Given the description of an element on the screen output the (x, y) to click on. 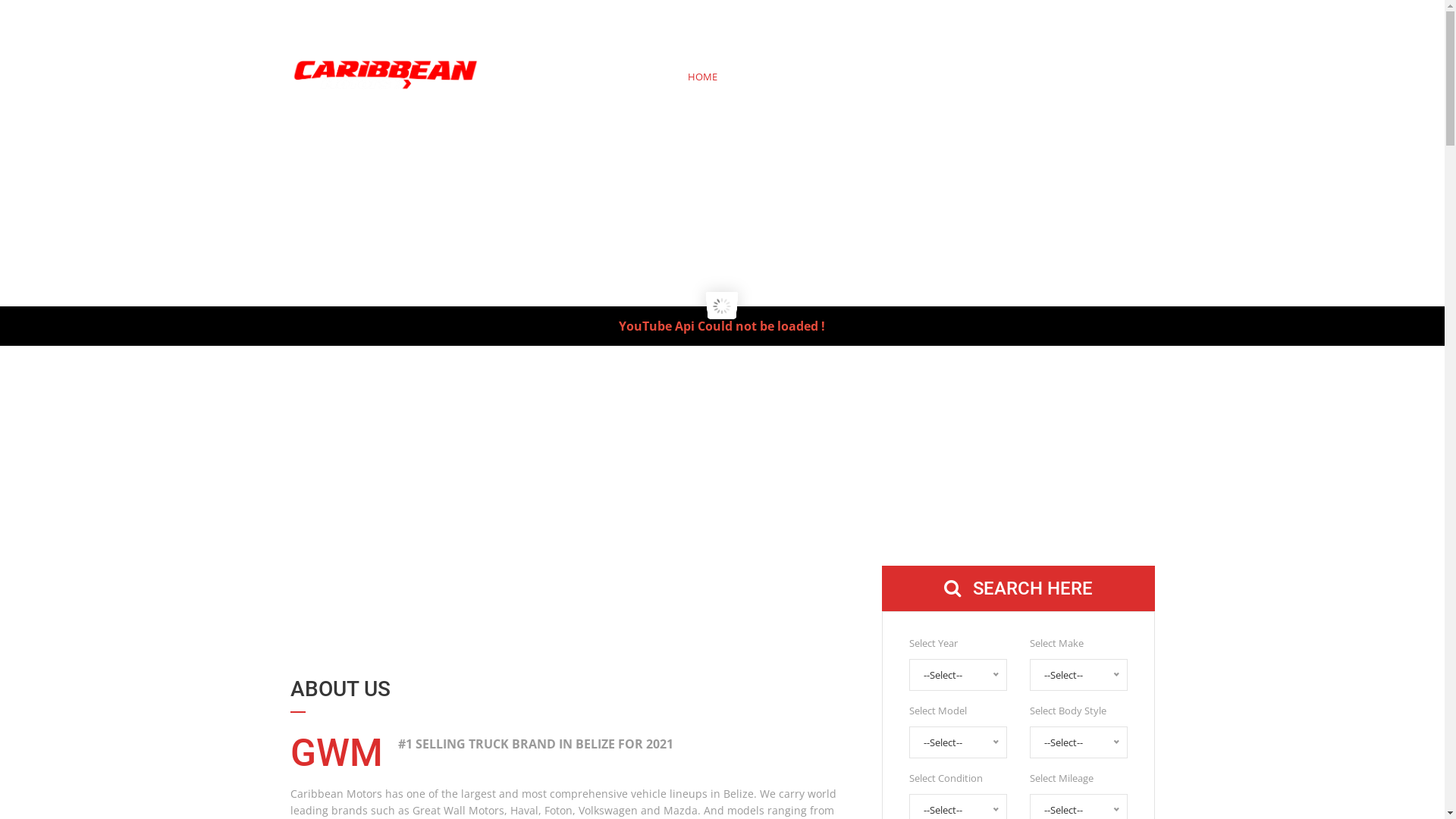
CONTACT Element type: text (1103, 76)
HOME Element type: text (702, 76)
sales@caribbeanmotors.bz Element type: text (487, 16)
NEW INVENTORY Element type: text (884, 76)
ABOUT Element type: text (752, 76)
SERVICE Element type: text (806, 76)
